Given the description of an element on the screen output the (x, y) to click on. 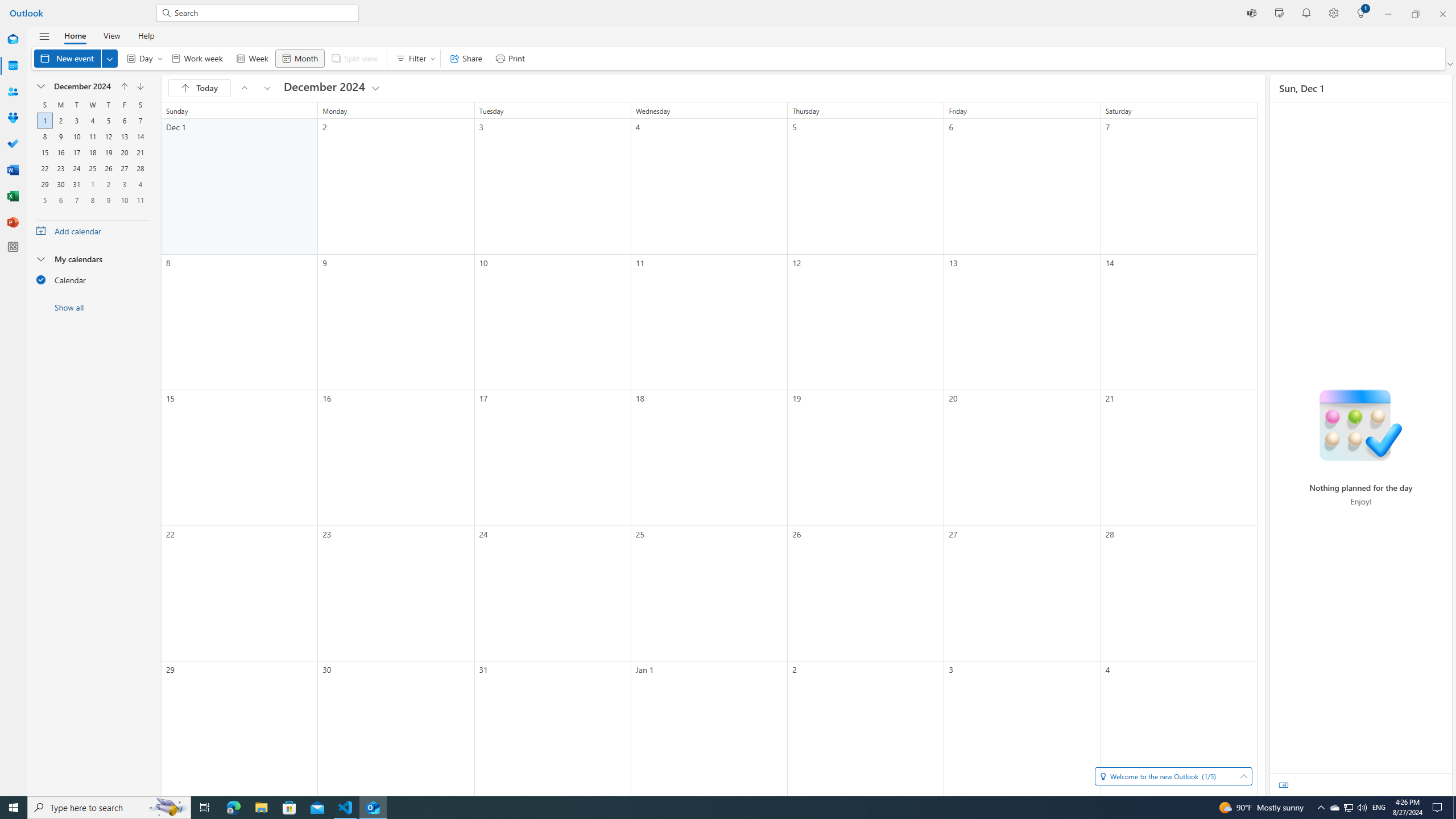
16, December, 2024 (59, 152)
Running applications (706, 807)
4, December, 2024 (92, 120)
Add calendar (92, 230)
5, December, 2024 (108, 120)
12, December, 2024 (108, 136)
31, December, 2024 (75, 183)
25, December, 2024 (92, 168)
Work week (197, 58)
10, December, 2024 (76, 136)
Day (141, 58)
Expand to see more Day options (159, 58)
3, January, 2025 (124, 184)
19, December, 2024 (108, 152)
New event (75, 58)
